Given the description of an element on the screen output the (x, y) to click on. 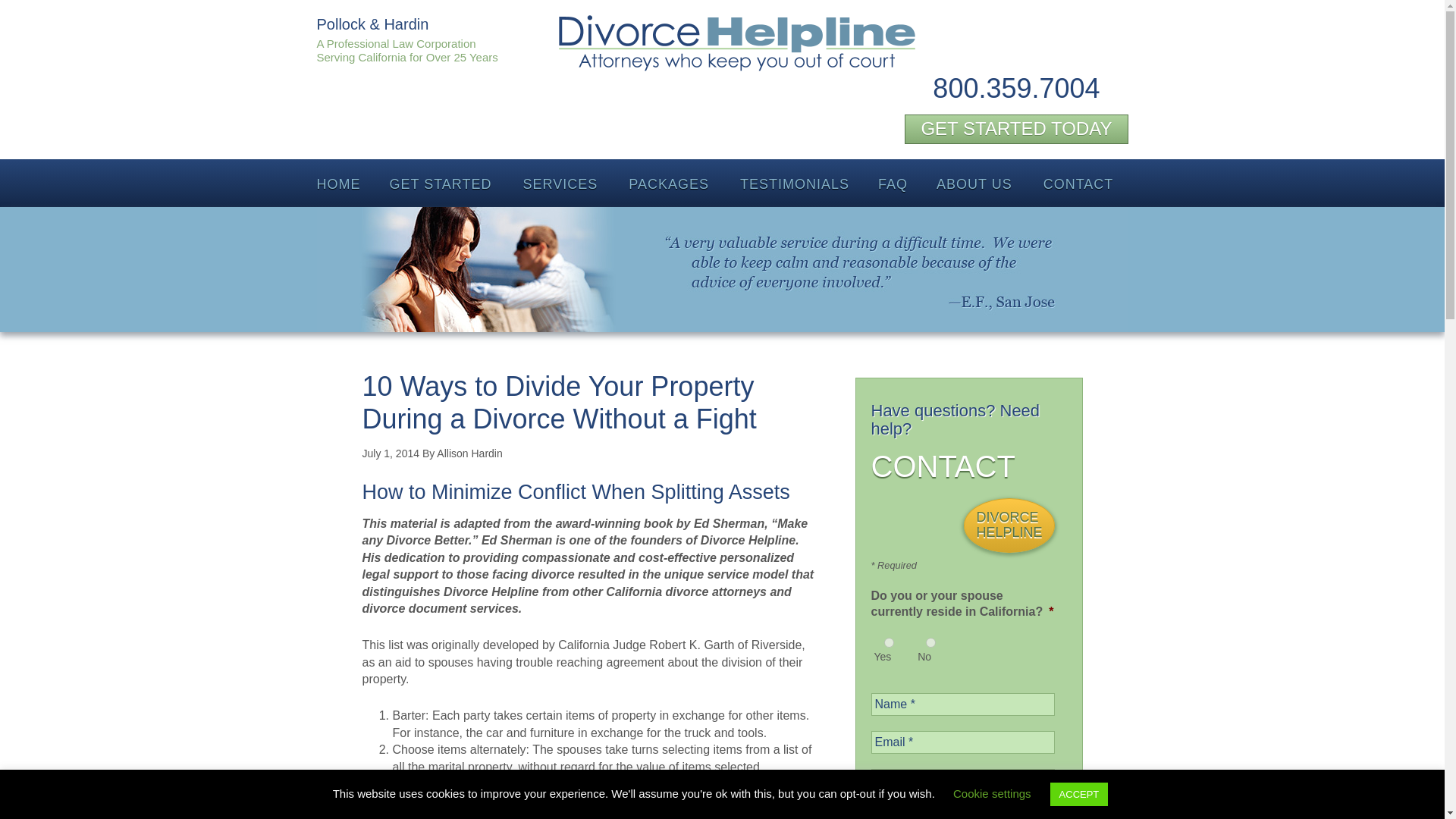
ABOUT US (975, 182)
FAQ (892, 182)
Yes (888, 642)
SERVICES (561, 182)
TESTIMONIALS (794, 182)
800.359.7004 (1016, 88)
PACKAGES (669, 182)
No (929, 642)
GET STARTED (441, 182)
HOME (337, 182)
GET STARTED TODAY (1015, 129)
